Given the description of an element on the screen output the (x, y) to click on. 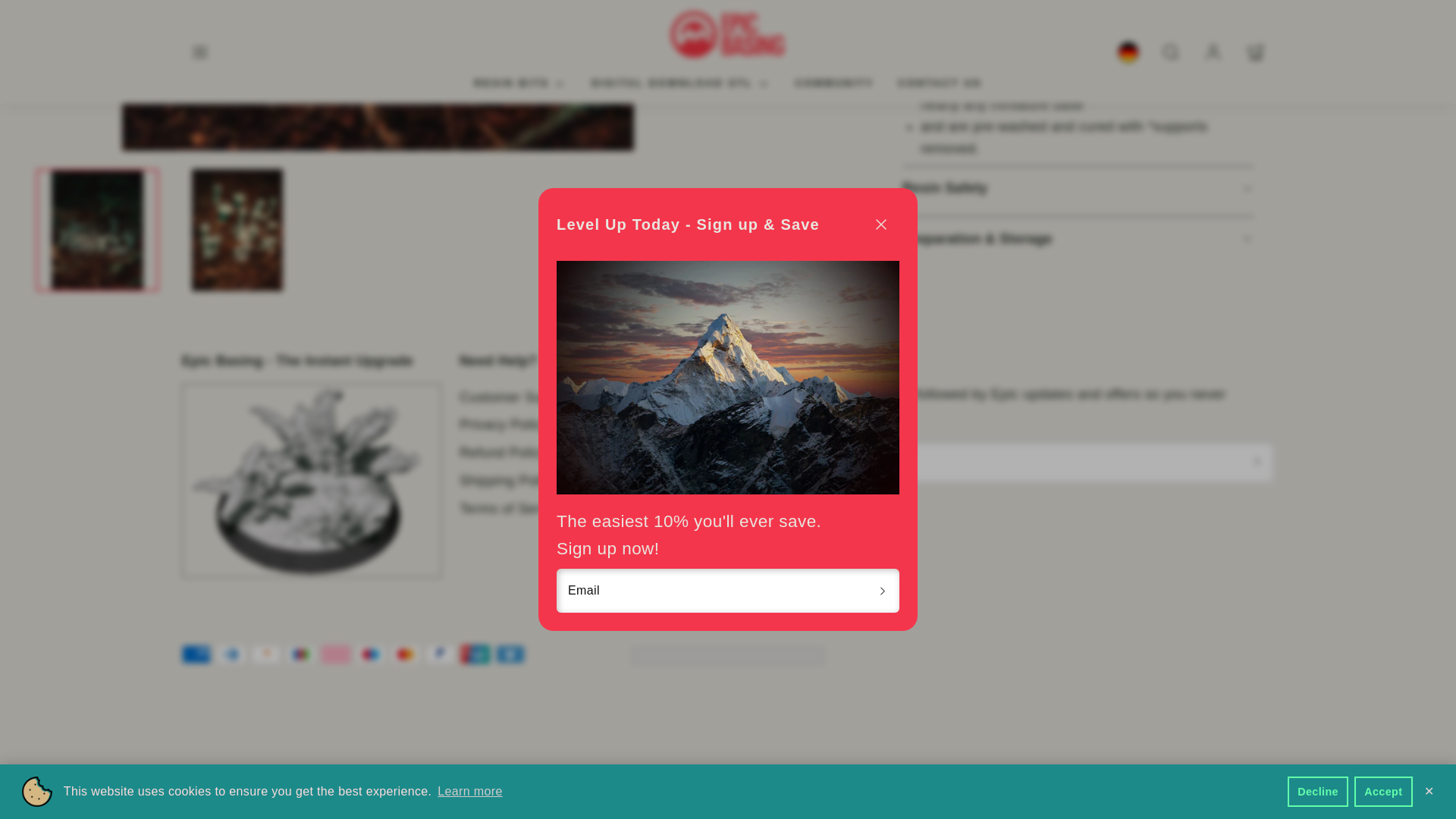
Diners Club (231, 654)
JCB (300, 654)
PayPal (440, 654)
American Express (196, 654)
Discover (266, 654)
Maestro (370, 654)
Mastercard (405, 654)
Klarna (335, 654)
